Given the description of an element on the screen output the (x, y) to click on. 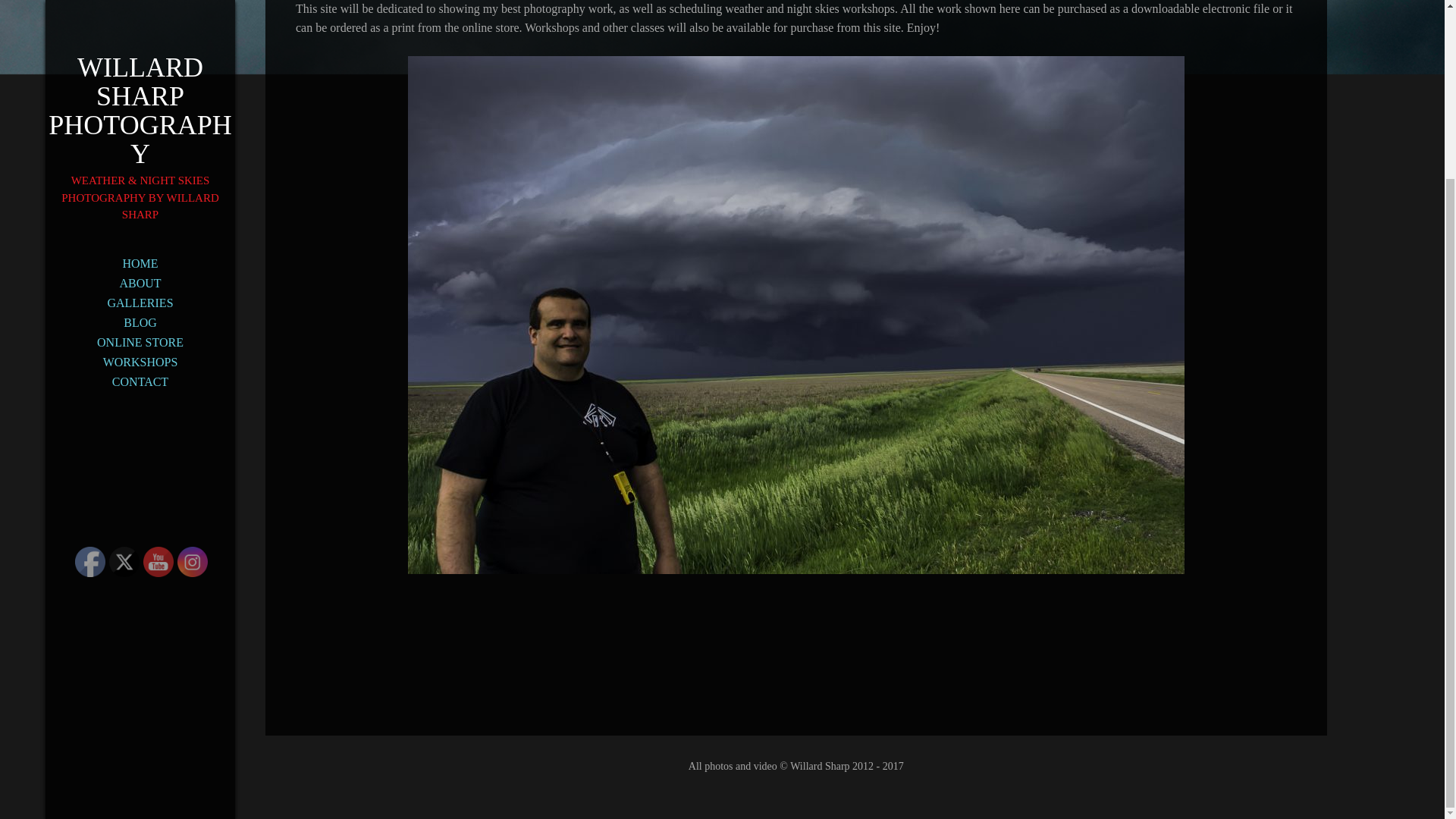
CONTACT (139, 162)
YouTube (157, 562)
Twitter (124, 562)
Instagram (192, 562)
ABOUT (139, 64)
Willard Sharp Photography (139, 2)
Facebook (89, 562)
HOME (139, 44)
BLOG (139, 103)
GALLERIES (139, 84)
